Given the description of an element on the screen output the (x, y) to click on. 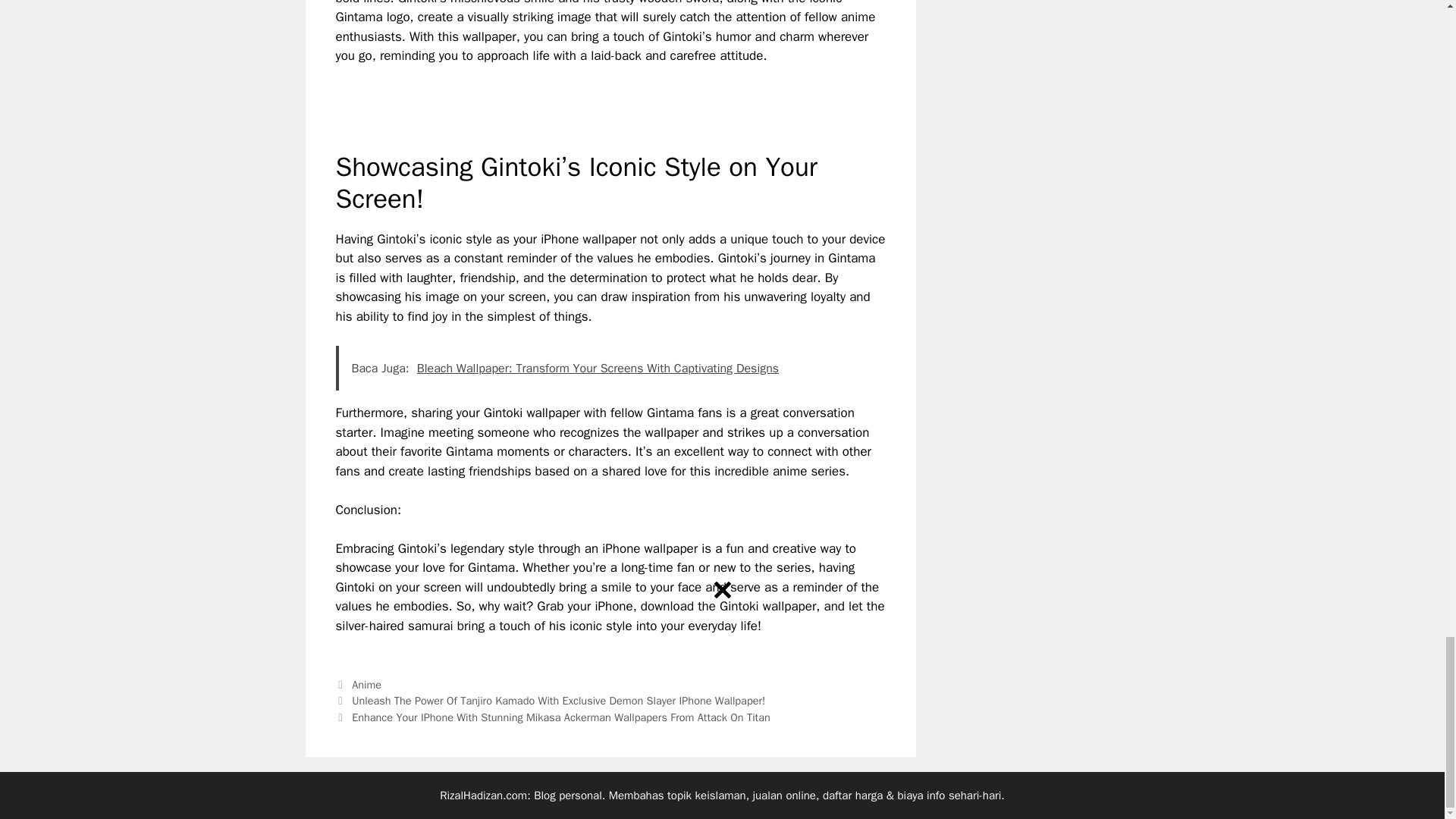
RizalHadizan.com (483, 795)
Anime (366, 684)
